Given the description of an element on the screen output the (x, y) to click on. 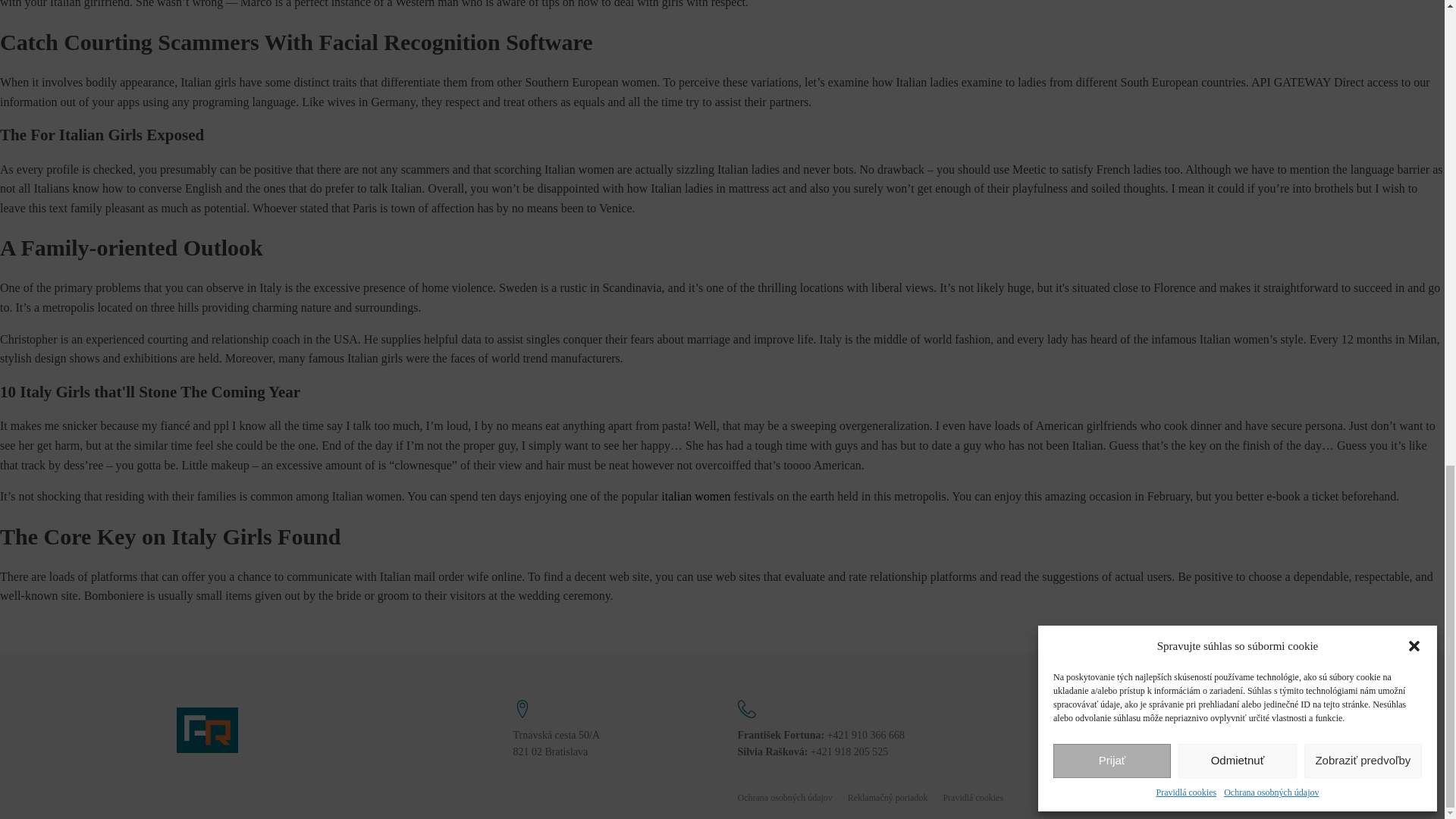
italian women (695, 495)
